Given the description of an element on the screen output the (x, y) to click on. 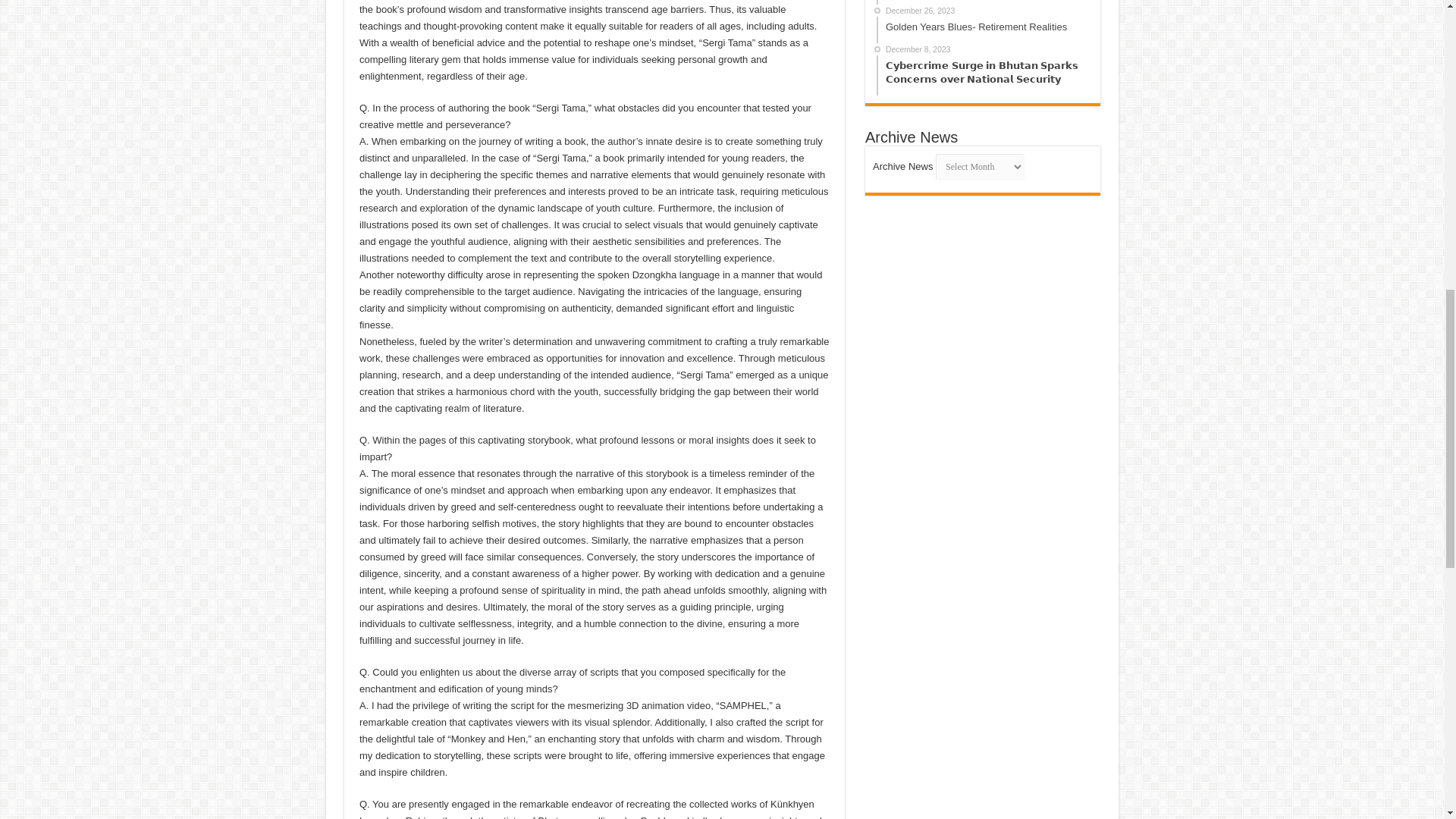
Scroll To Top (1421, 60)
